Given the description of an element on the screen output the (x, y) to click on. 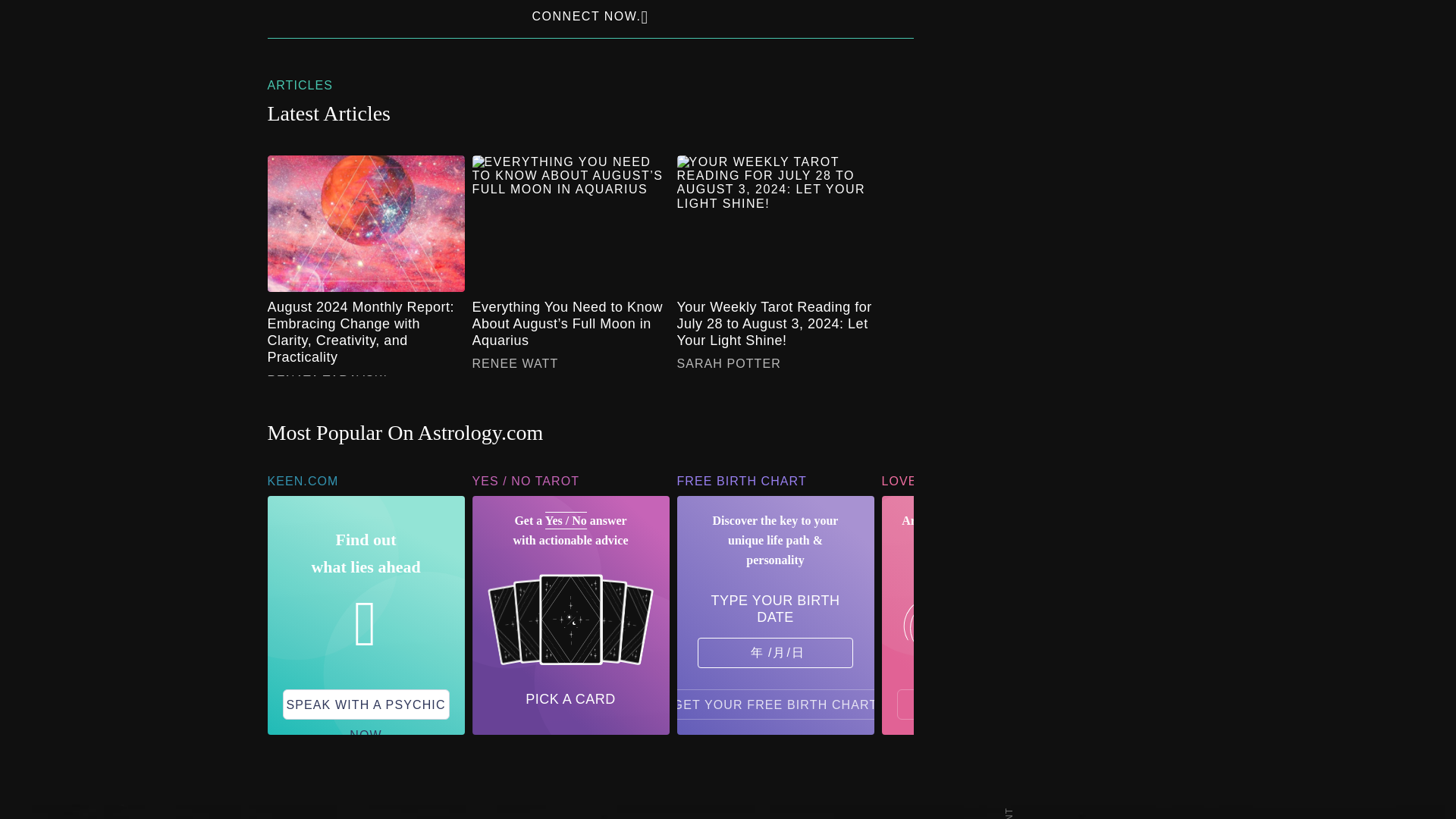
Get your free birth chart (775, 704)
